Given the description of an element on the screen output the (x, y) to click on. 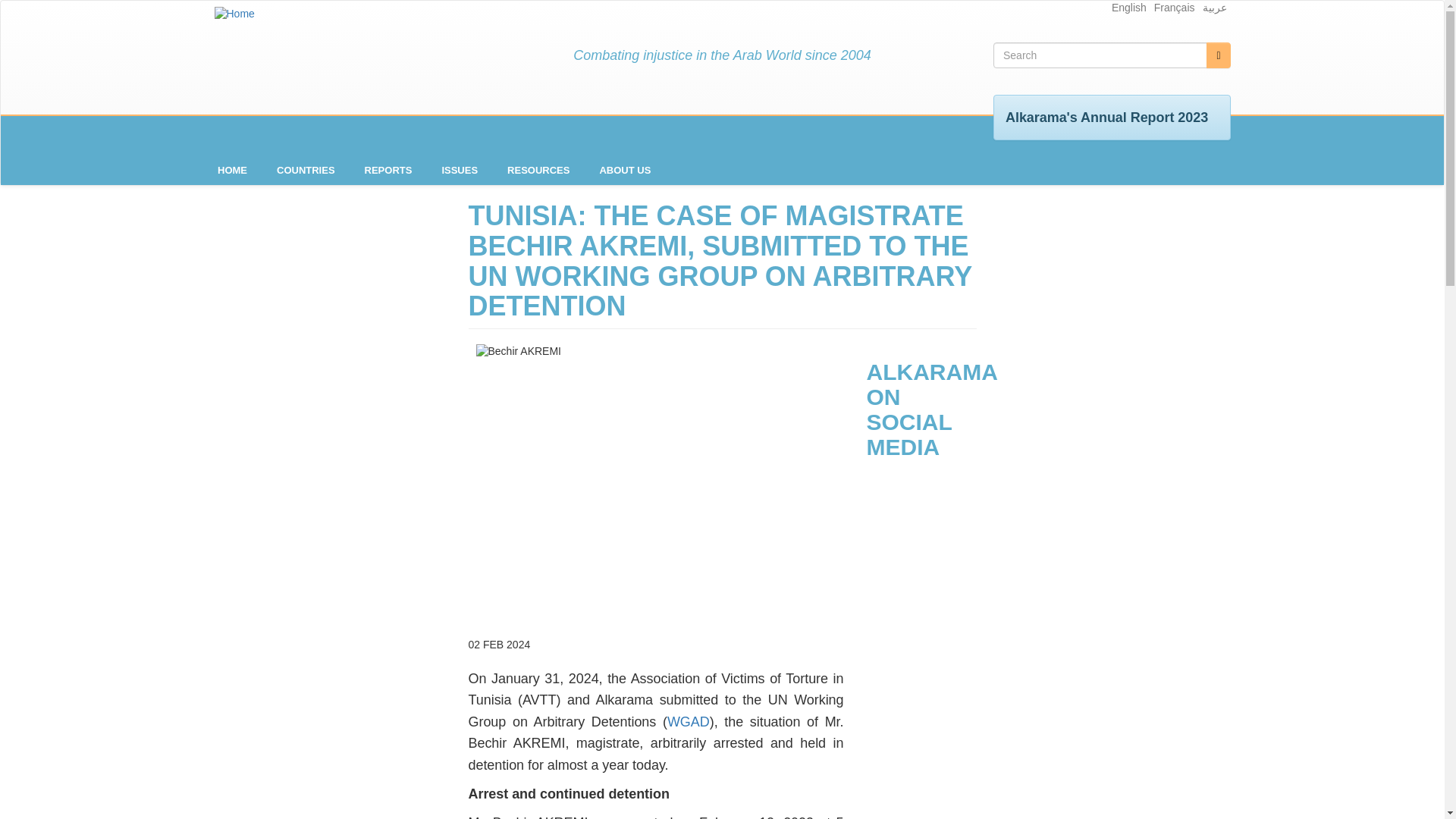
English (1129, 7)
HOME (232, 170)
Home (233, 14)
Search (1218, 54)
COUNTRIES (306, 170)
Enter the terms you wish to search for. (1099, 54)
Alkarama's Annual Report 2023 (1107, 117)
Alkarama Annual Report 2023 (1107, 117)
REPORTS (387, 170)
